Given the description of an element on the screen output the (x, y) to click on. 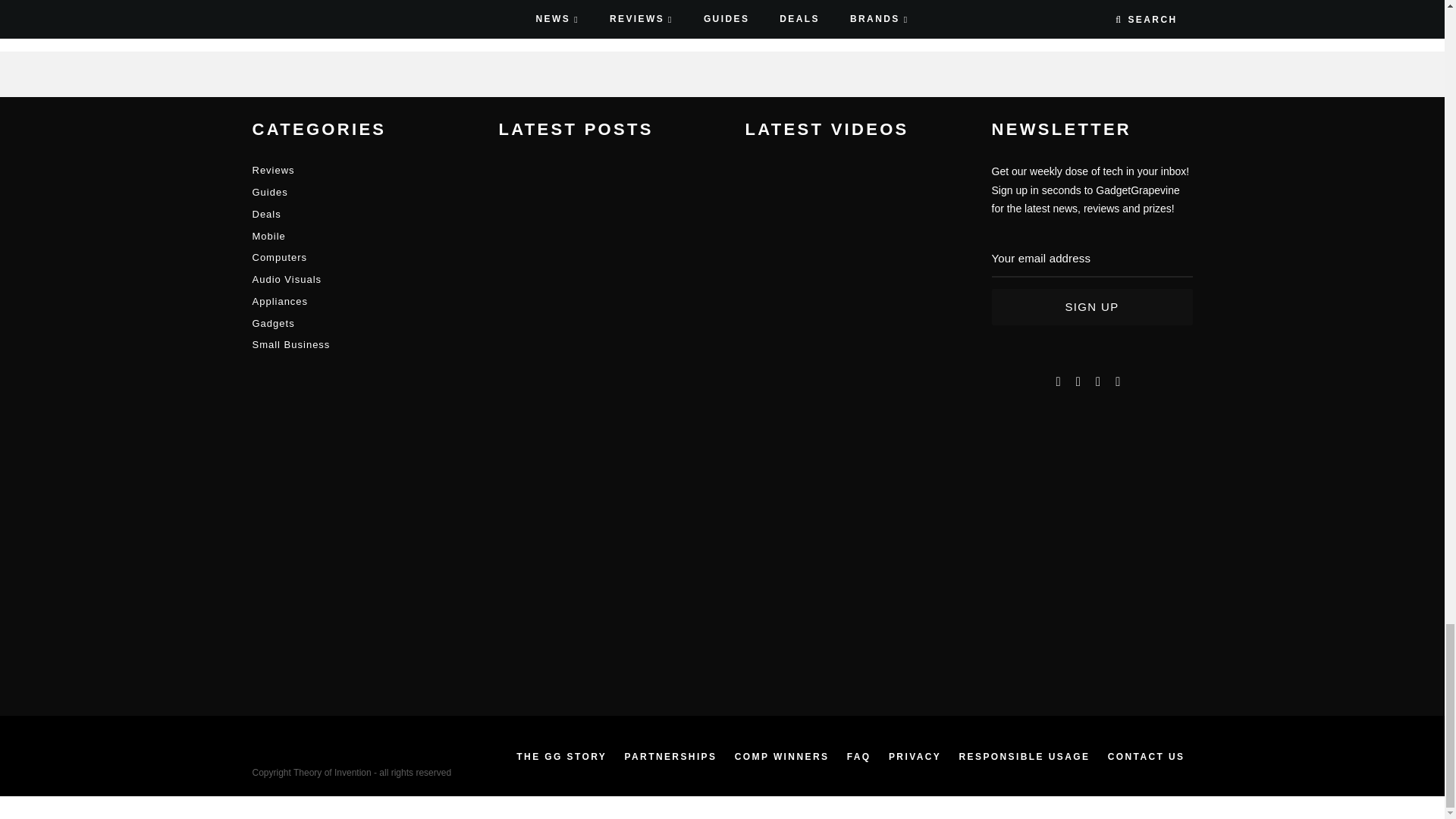
Submit (324, 8)
Sign up (1091, 307)
